Given the description of an element on the screen output the (x, y) to click on. 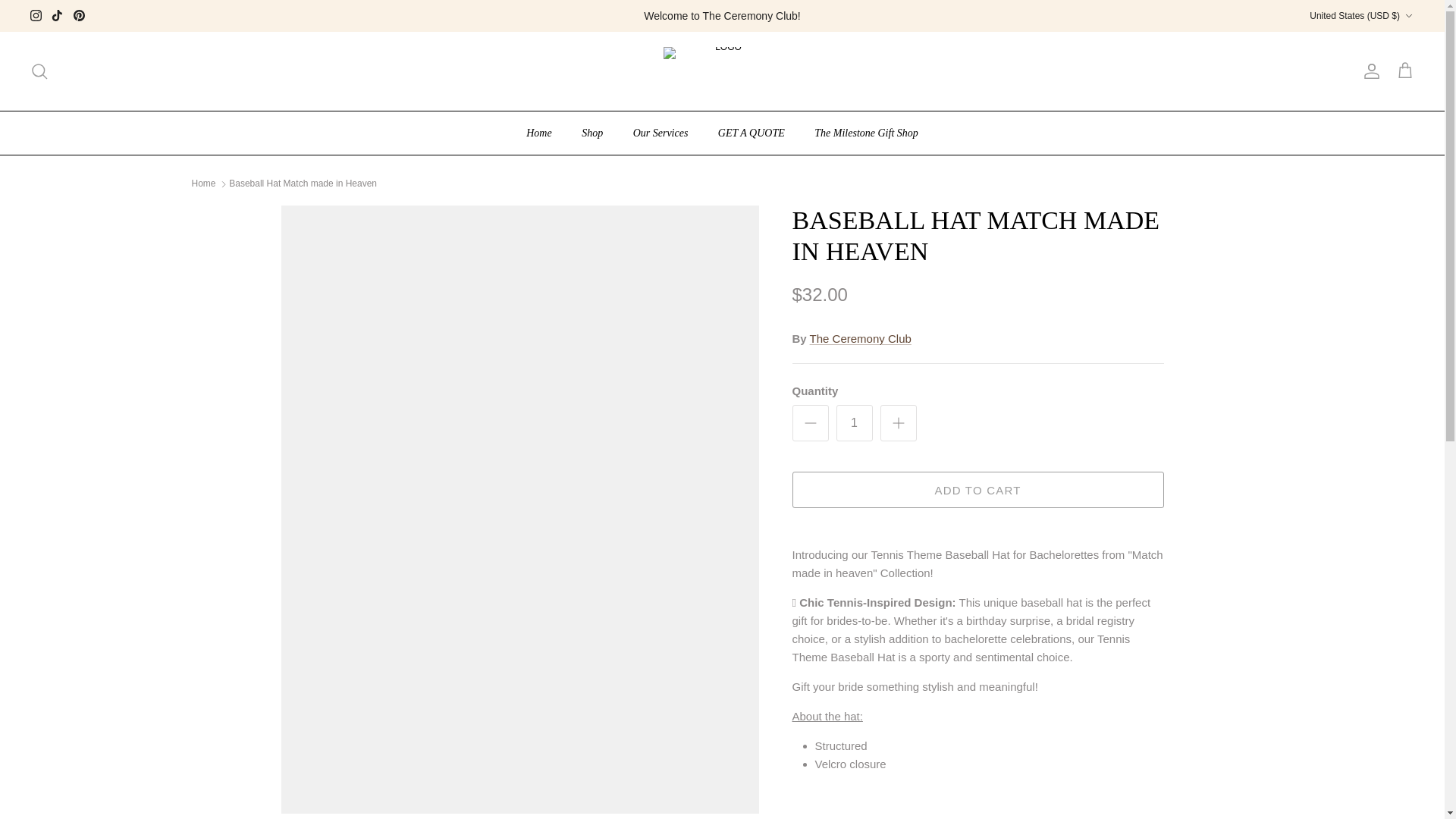
Shop (591, 132)
Instagram (36, 15)
Cart (1404, 71)
Down (1408, 15)
Home (538, 132)
Pinterest (79, 15)
Instagram (36, 15)
Pinterest (79, 15)
Plus (897, 423)
1 (853, 422)
